Given the description of an element on the screen output the (x, y) to click on. 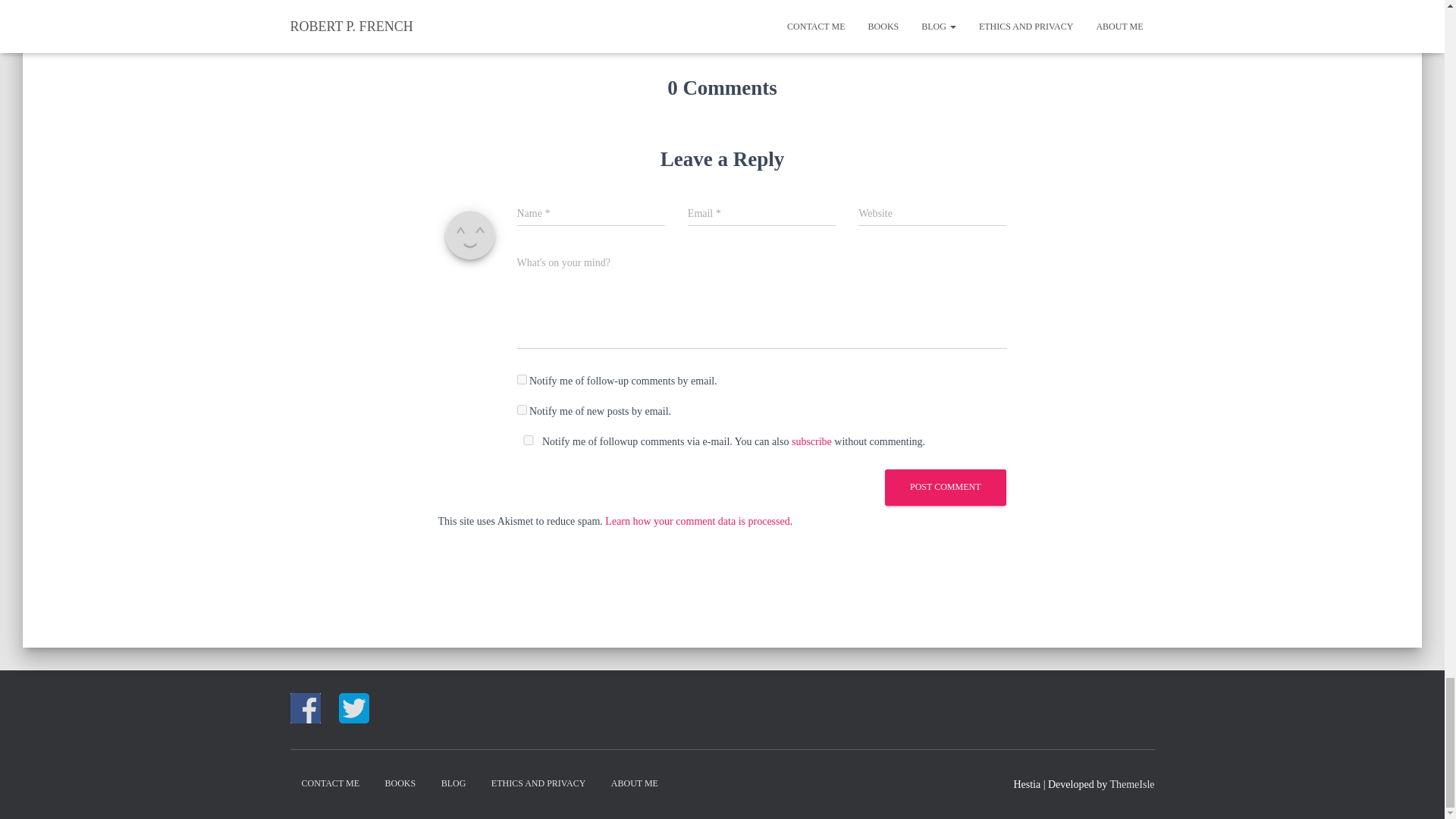
subscribe (811, 441)
yes (528, 439)
Post Comment (945, 487)
BOOKS (399, 783)
ABOUT ME (634, 783)
CONTACT ME (330, 783)
BLOG (453, 783)
Learn how your comment data is processed (697, 520)
Post Comment (945, 487)
subscribe (521, 409)
ETHICS AND PRIVACY (538, 783)
subscribe (521, 379)
ThemeIsle (1131, 784)
